Given the description of an element on the screen output the (x, y) to click on. 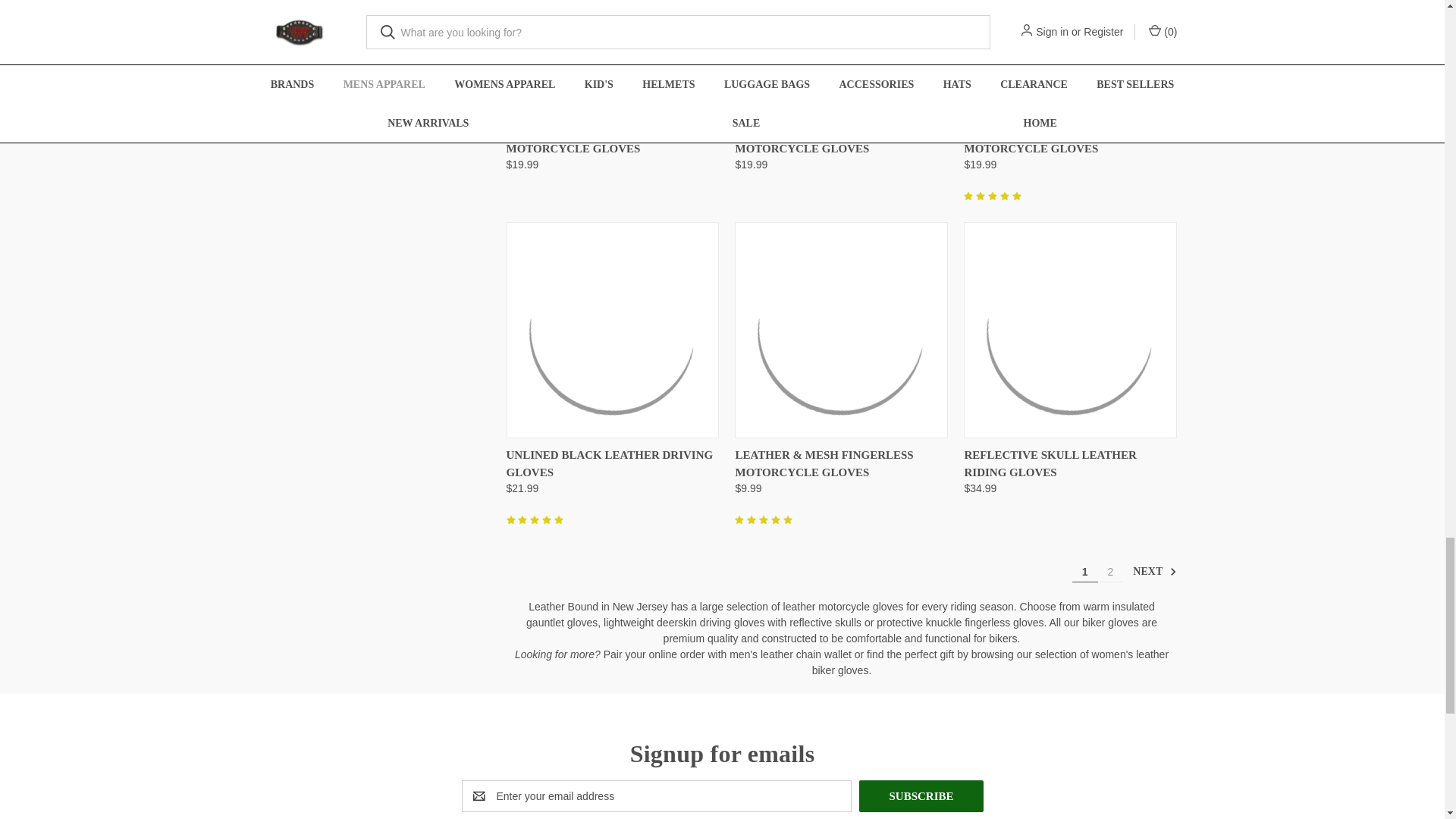
Subscribe (920, 796)
